Given the description of an element on the screen output the (x, y) to click on. 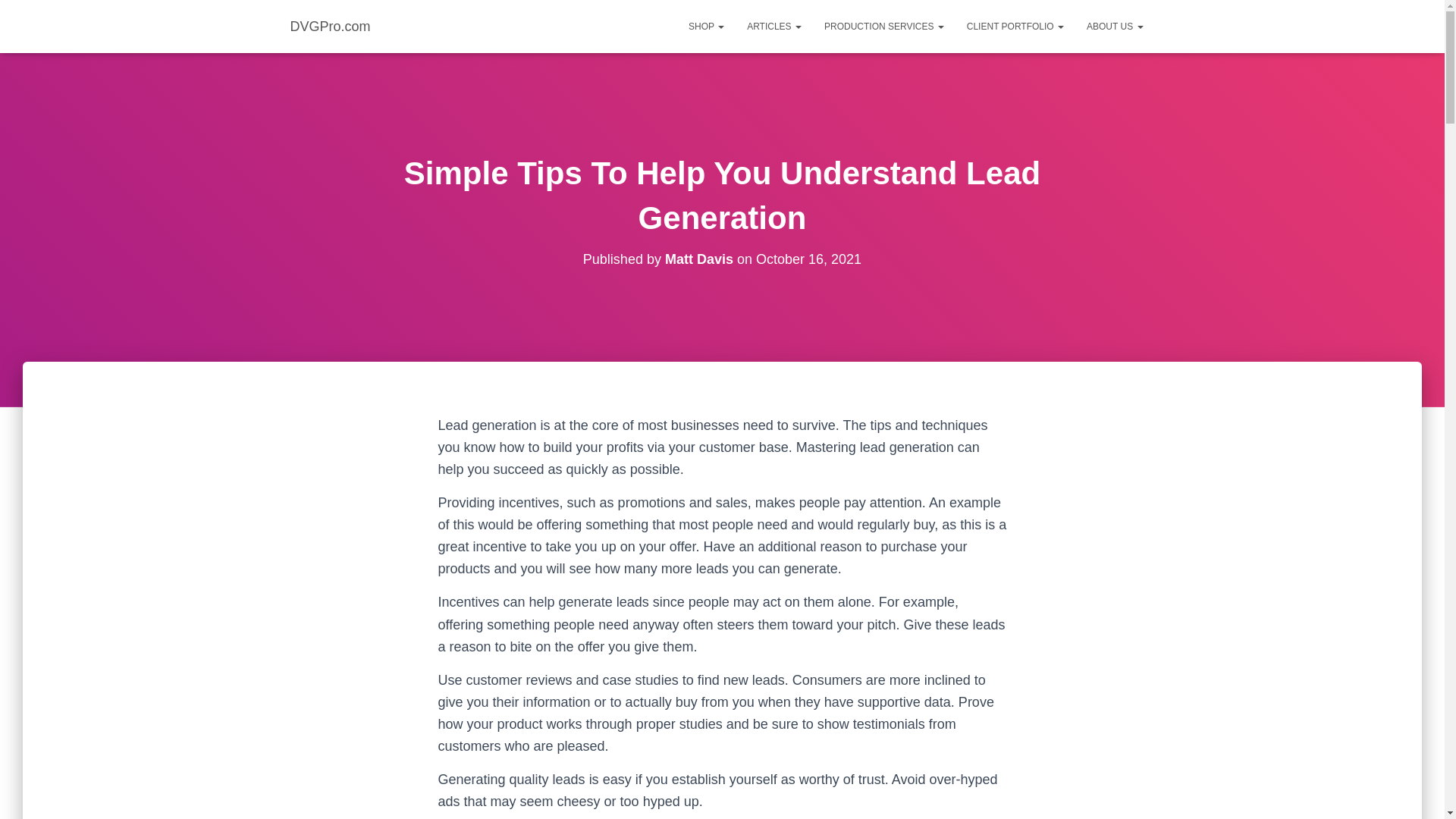
SHOP (706, 26)
Shop (706, 26)
DVGPro.com (330, 26)
ARTICLES (773, 26)
DVGPro.com (330, 26)
